Given the description of an element on the screen output the (x, y) to click on. 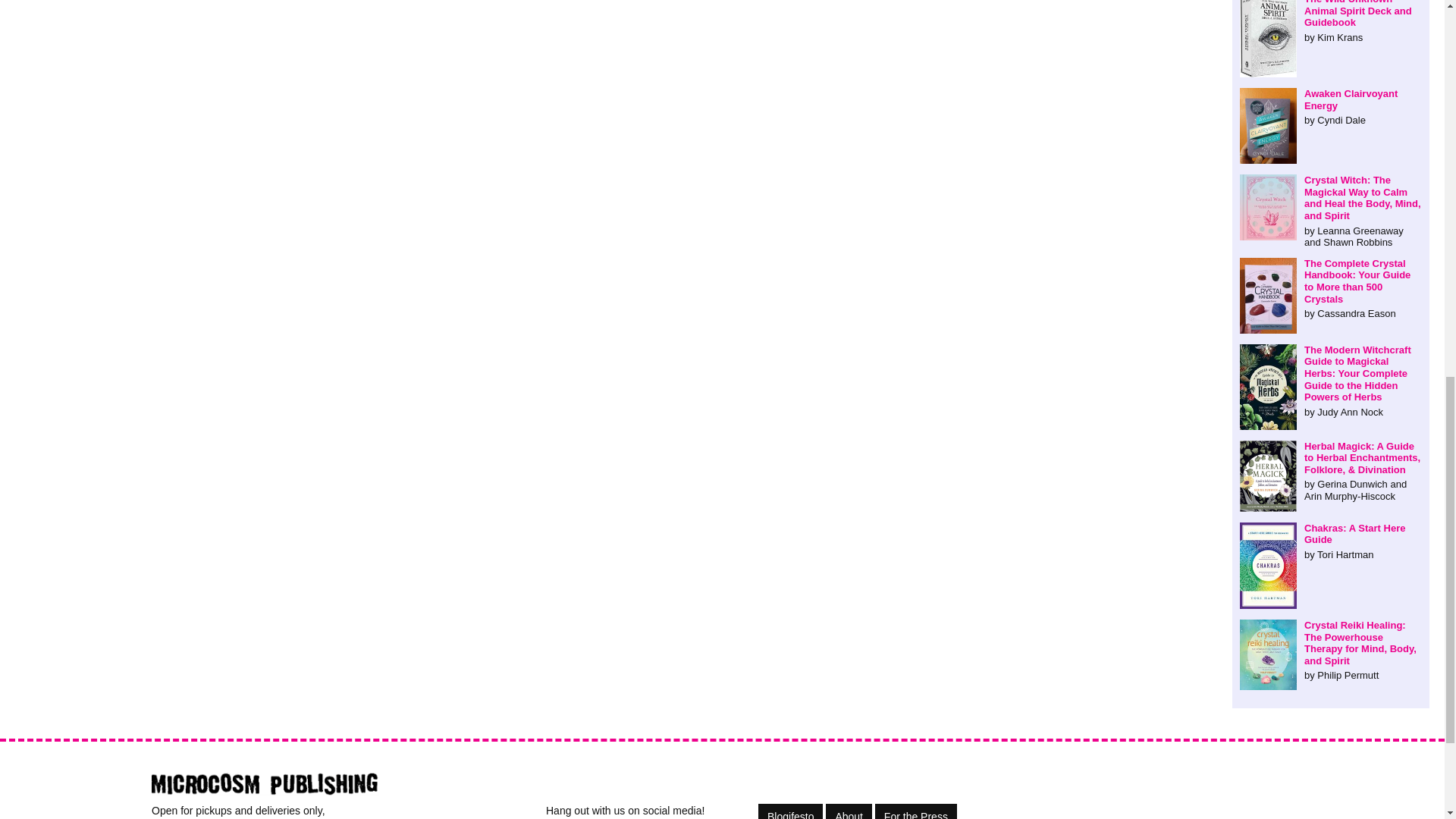
Chakras: A Start Here Guide (1331, 541)
Awaken Clairvoyant Energy (1331, 106)
The Wild Unknown Animal Spirit Deck and Guidebook (1331, 21)
